Given the description of an element on the screen output the (x, y) to click on. 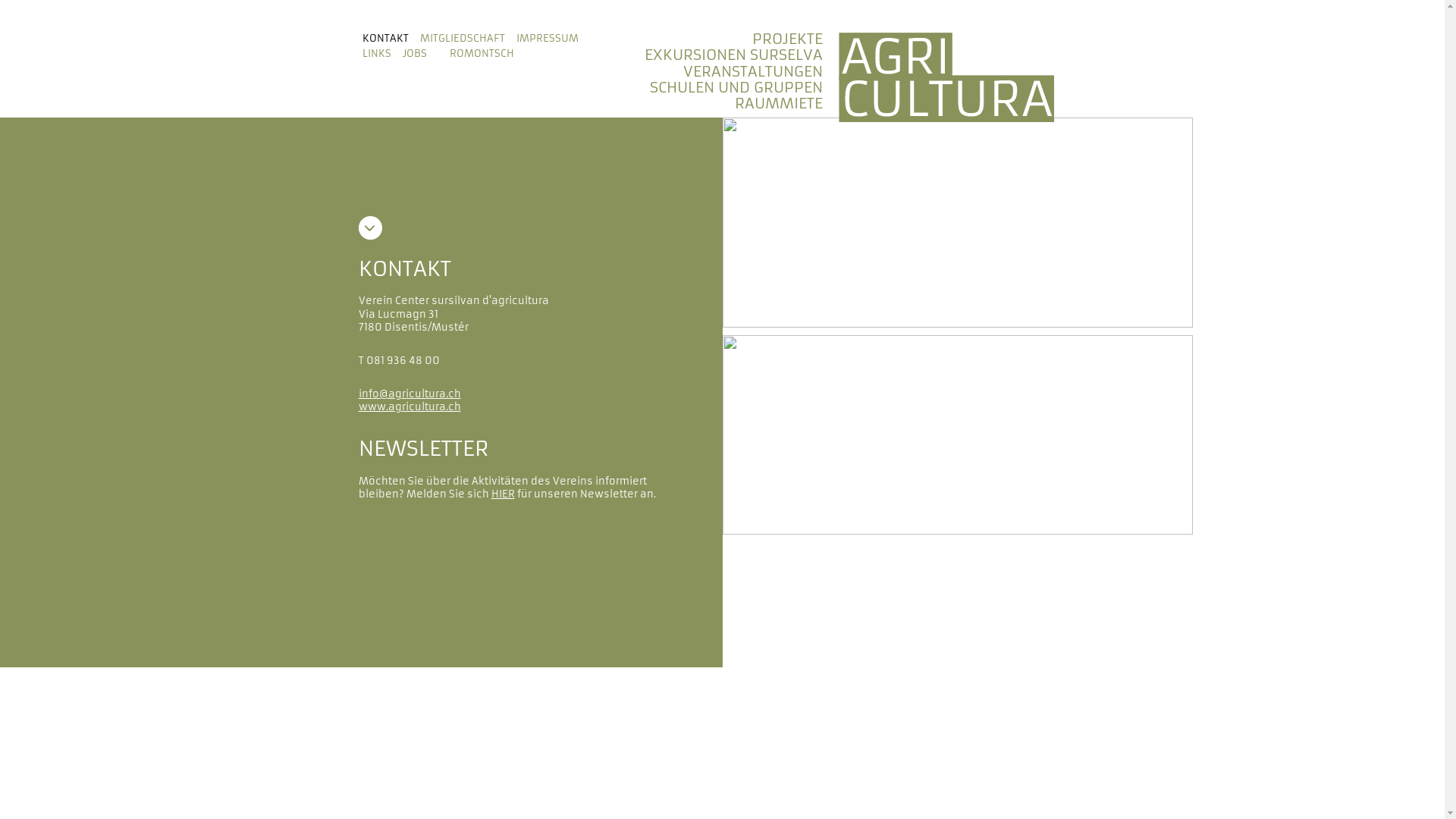
EXKURSIONEN SURSELVA Element type: text (733, 54)
JOBS Element type: text (413, 53)
PROJEKTE Element type: text (787, 38)
RAUMMIETE Element type: text (778, 103)
IMPRESSUM Element type: text (546, 38)
HIER Element type: text (502, 493)
SCHULEN UND GRUPPEN Element type: text (735, 87)
KONTAKT Element type: text (385, 38)
ROMONTSCH Element type: text (480, 53)
MITGLIEDSCHAFT Element type: text (462, 38)
VERANSTALTUNGEN Element type: text (752, 71)
info@agricultura.ch Element type: text (408, 393)
www.agricultura.ch Element type: text (408, 406)
LINKS Element type: text (376, 53)
